Given the description of an element on the screen output the (x, y) to click on. 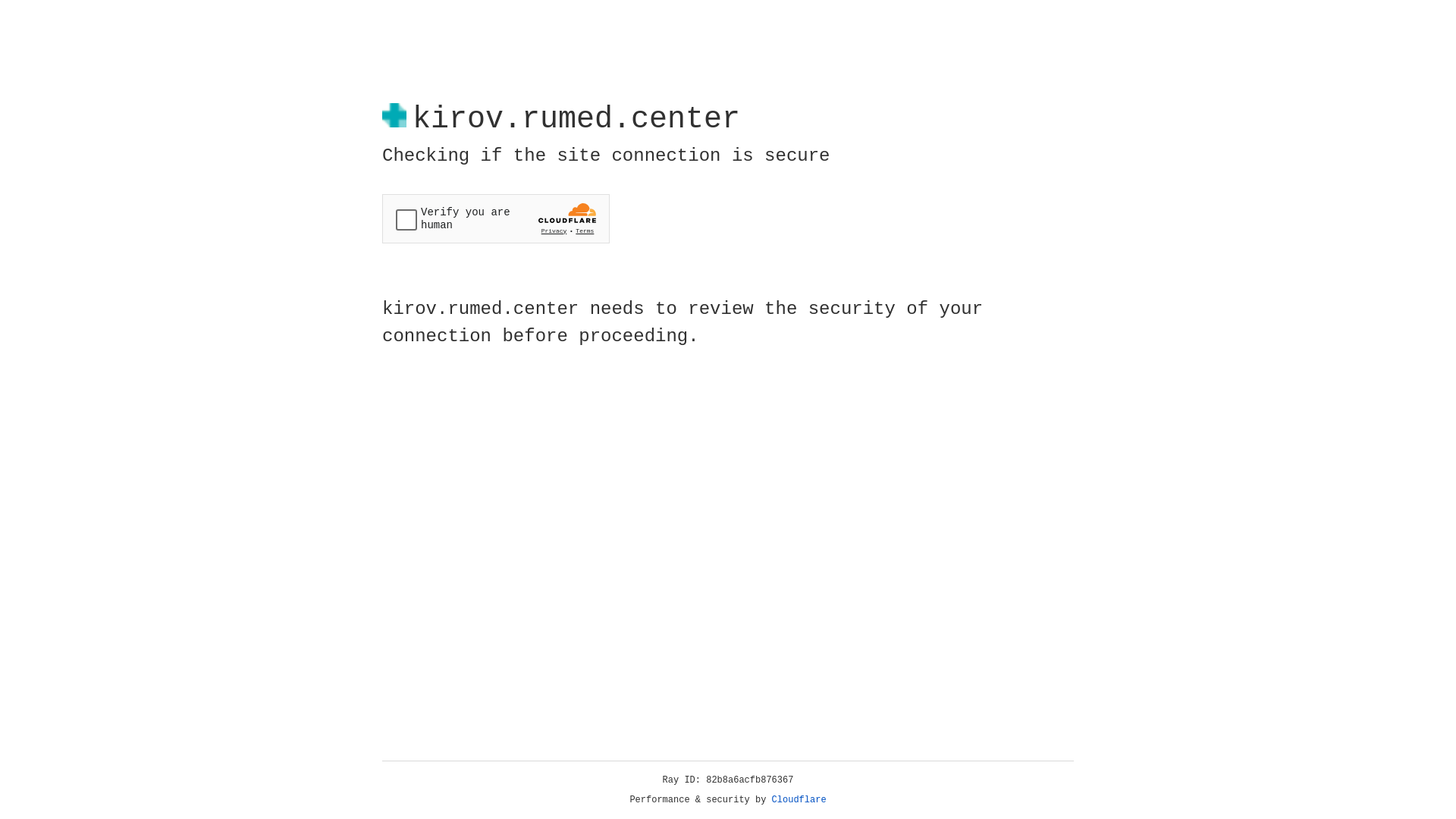
Cloudflare Element type: text (798, 799)
Widget containing a Cloudflare security challenge Element type: hover (495, 218)
